Given the description of an element on the screen output the (x, y) to click on. 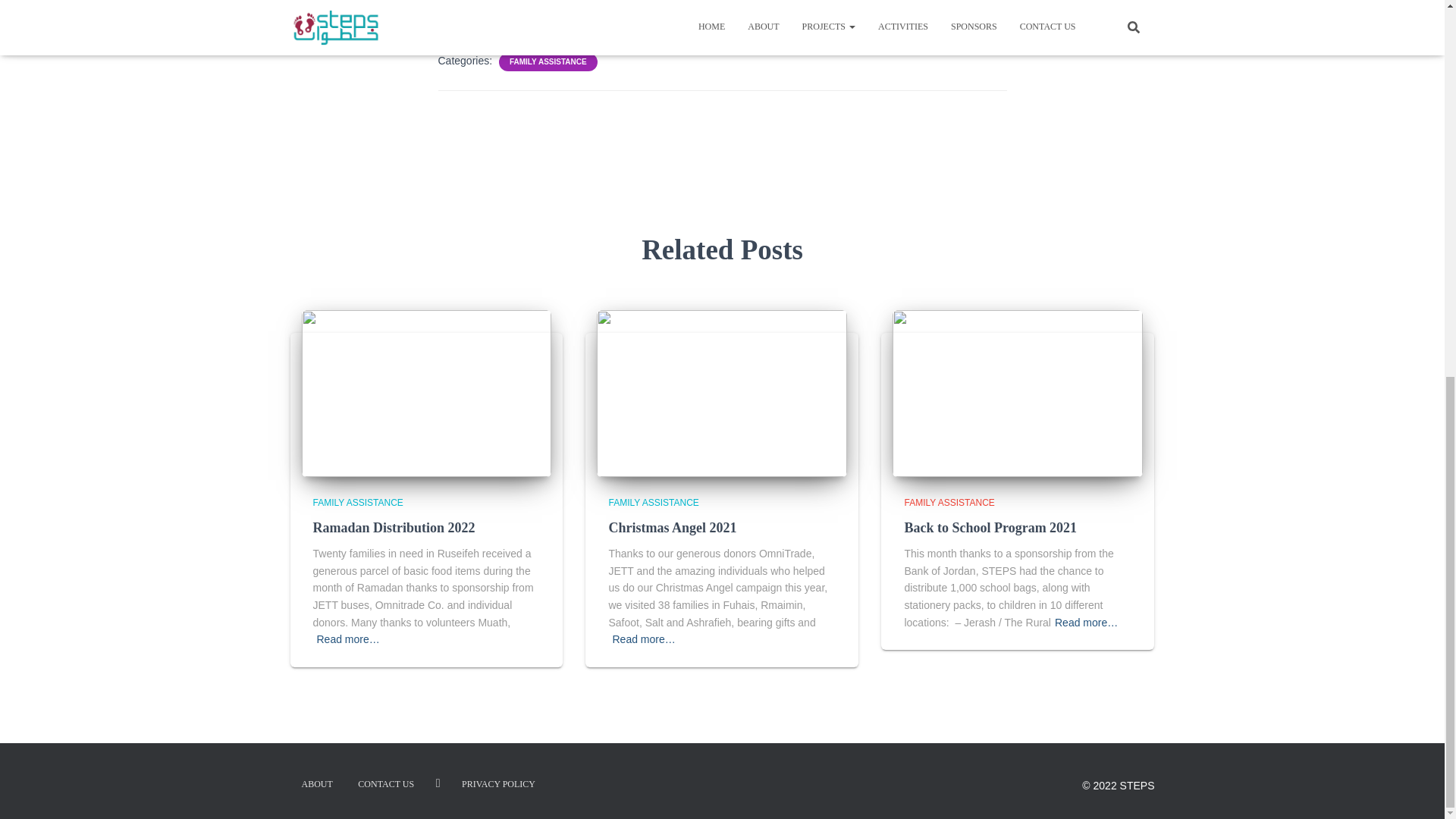
Christmas Angel 2021 (672, 527)
PRIVACY POLICY (498, 784)
Ramadan Distribution 2022 (393, 527)
FAMILY ASSISTANCE (949, 502)
CONTACT US (385, 784)
Ramadan Distribution 2022 (426, 392)
Back to School Program 2021 (990, 527)
FAMILY ASSISTANCE (548, 61)
FAMILY ASSISTANCE (358, 502)
FAMILY ASSISTANCE (653, 502)
